Given the description of an element on the screen output the (x, y) to click on. 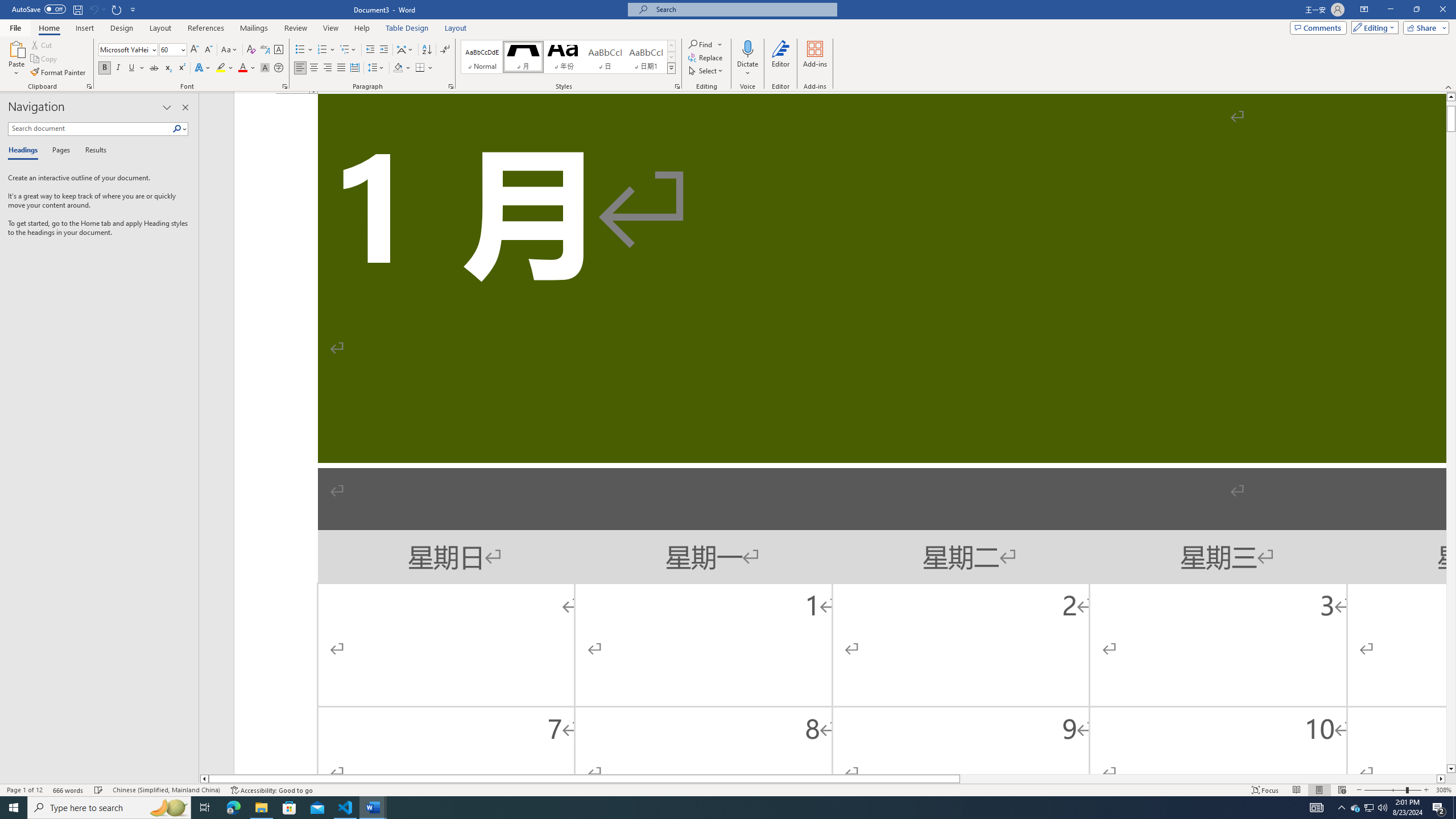
Page 1 content (839, 433)
Header -Section 1- (839, 92)
